Given the description of an element on the screen output the (x, y) to click on. 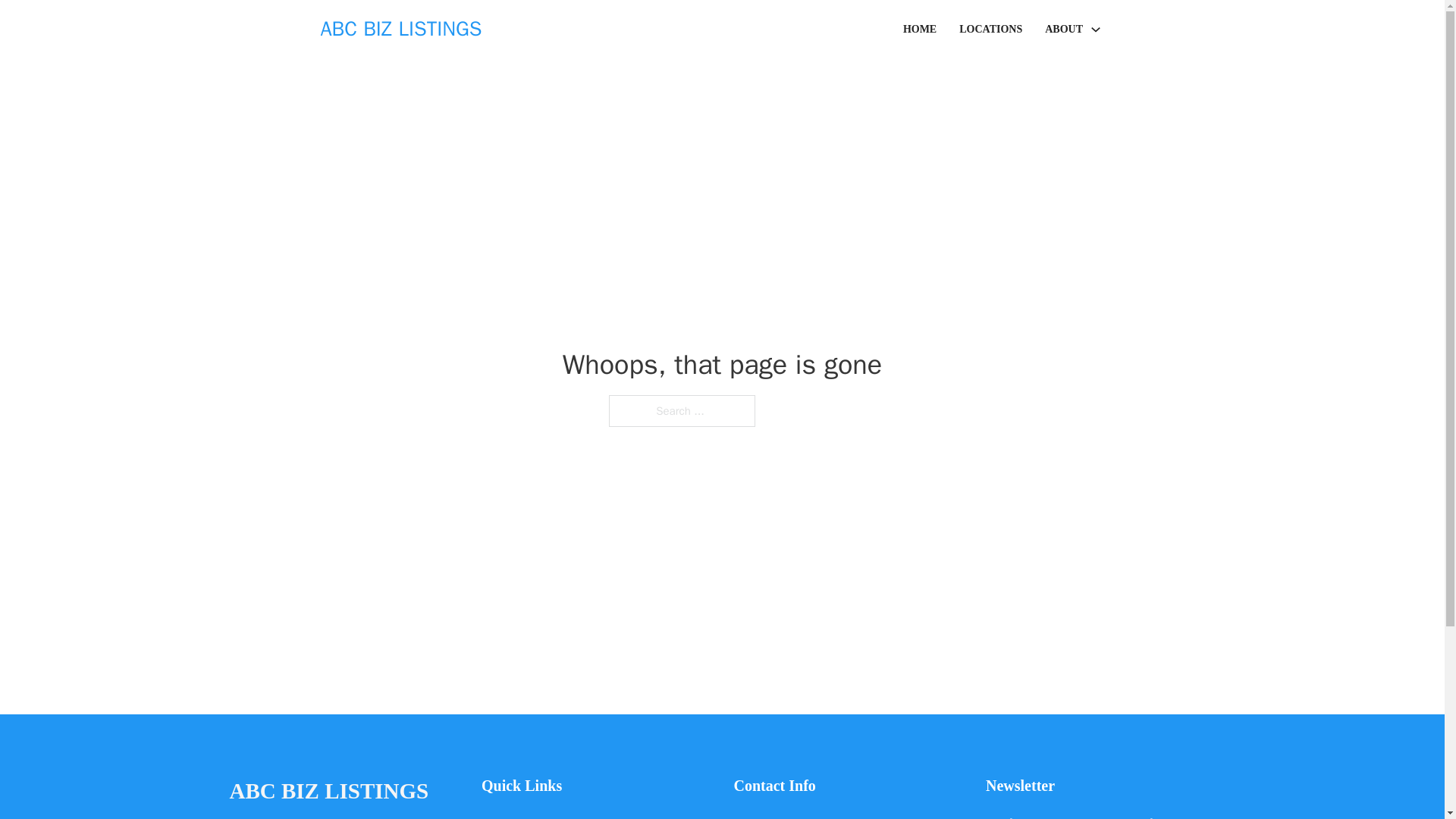
ABC BIZ LISTINGS (400, 28)
HOME (919, 29)
Home (496, 816)
LOCATIONS (990, 29)
ABC BIZ LISTINGS (328, 791)
